Given the description of an element on the screen output the (x, y) to click on. 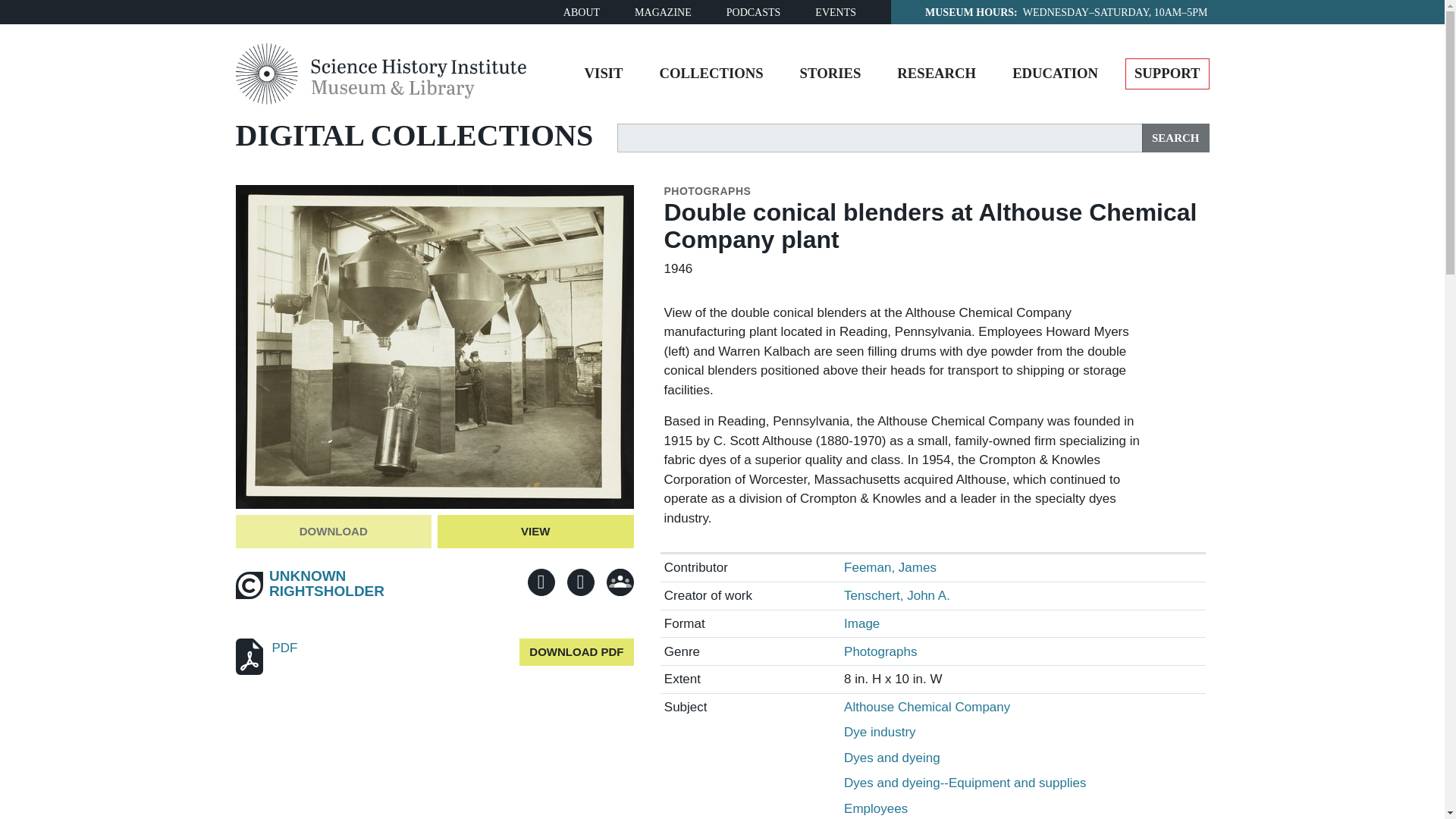
Share to Facebook (540, 582)
Share to Google Classroom (620, 582)
MUSEUM HOURS (968, 11)
Share to Pinterest (580, 582)
RESEARCH (936, 76)
Althouse Chemical Company (927, 707)
EDUCATION (1055, 76)
PHOTOGRAPHS (707, 191)
Feeman, James (890, 567)
SUPPORT (1167, 73)
